Given the description of an element on the screen output the (x, y) to click on. 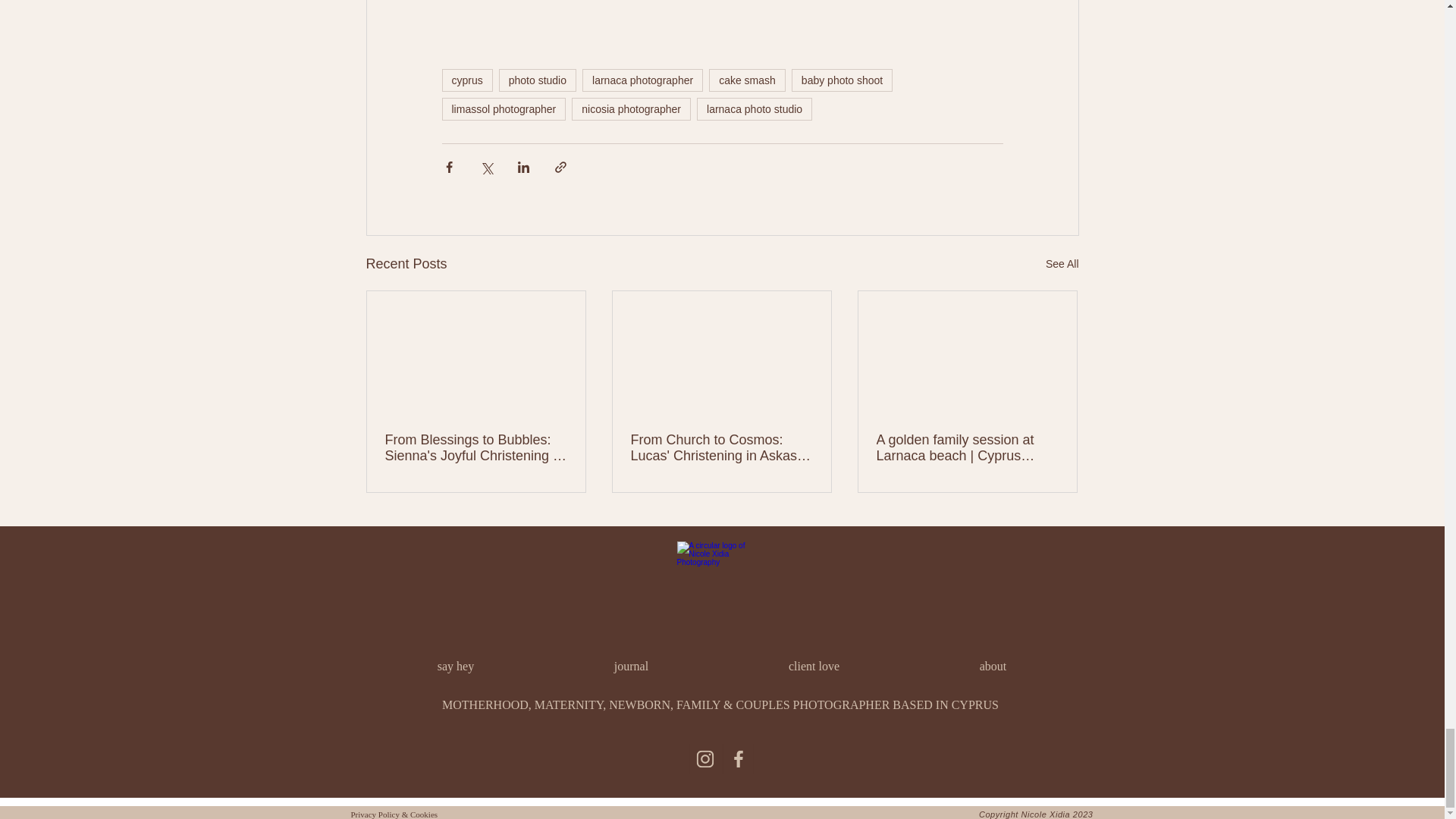
cyprus (466, 79)
See All (1061, 264)
client love (814, 666)
journal (631, 666)
nicosia photographer (631, 108)
cake smash (747, 79)
larnaca photographer (642, 79)
about (993, 666)
baby photo shoot (842, 79)
say hey (454, 666)
